Given the description of an element on the screen output the (x, y) to click on. 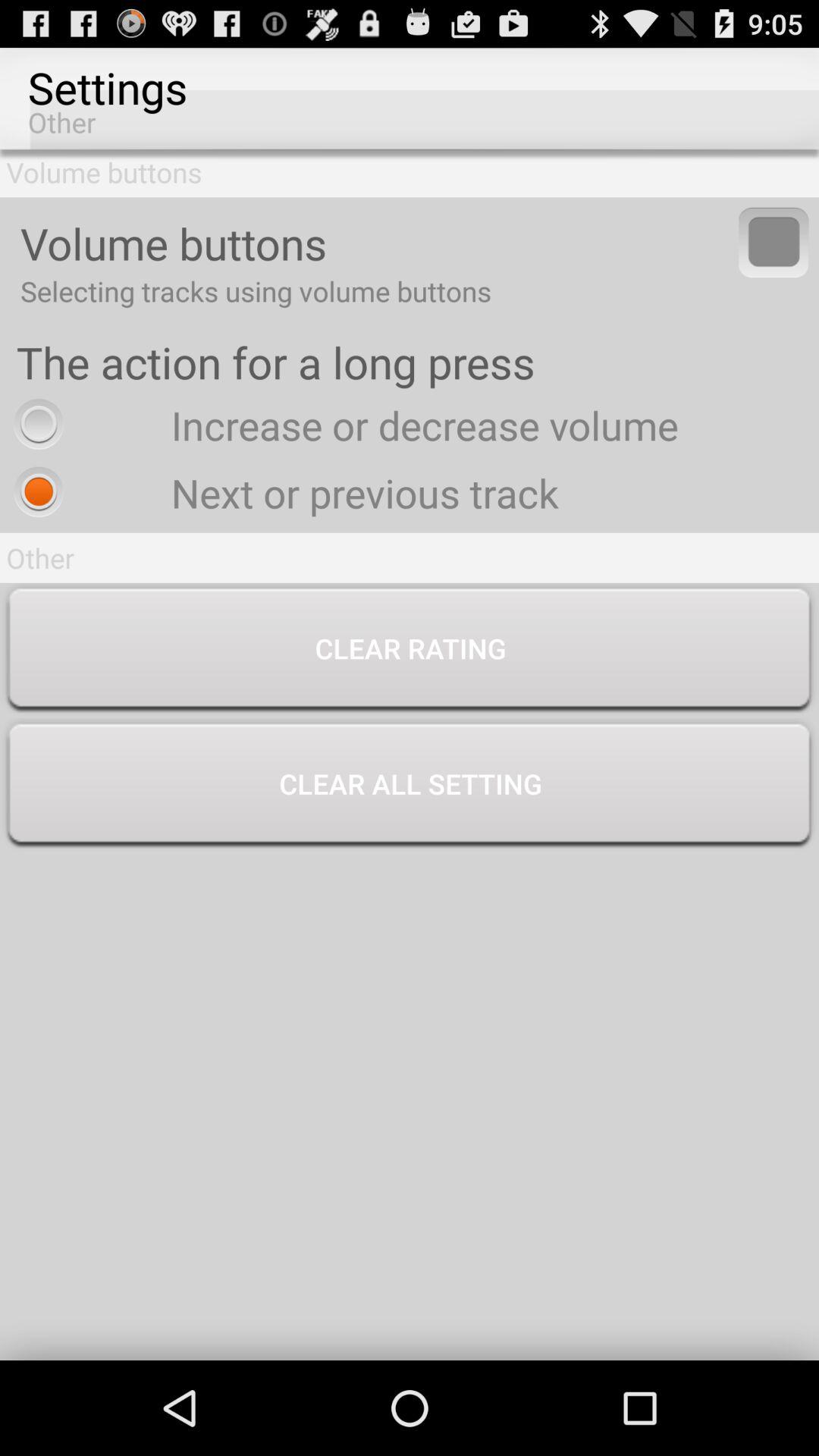
click the checkbox at the top right corner (773, 242)
